Given the description of an element on the screen output the (x, y) to click on. 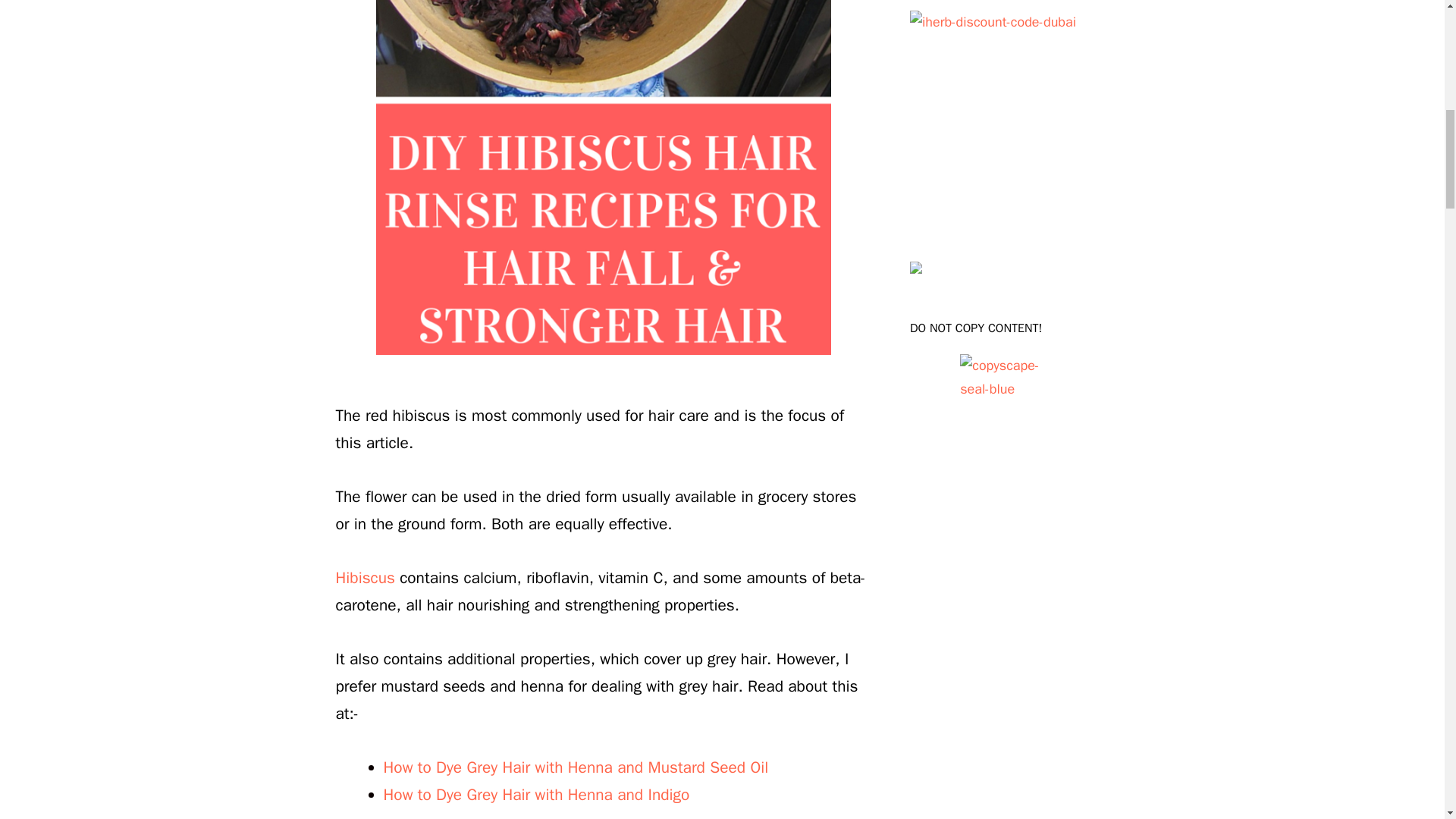
Hibiscus (364, 578)
How to Dye Grey Hair with Henna and Mustard Seed Oil (576, 767)
How to Dye Grey Hair with Henna and Indigo (537, 794)
